Given the description of an element on the screen output the (x, y) to click on. 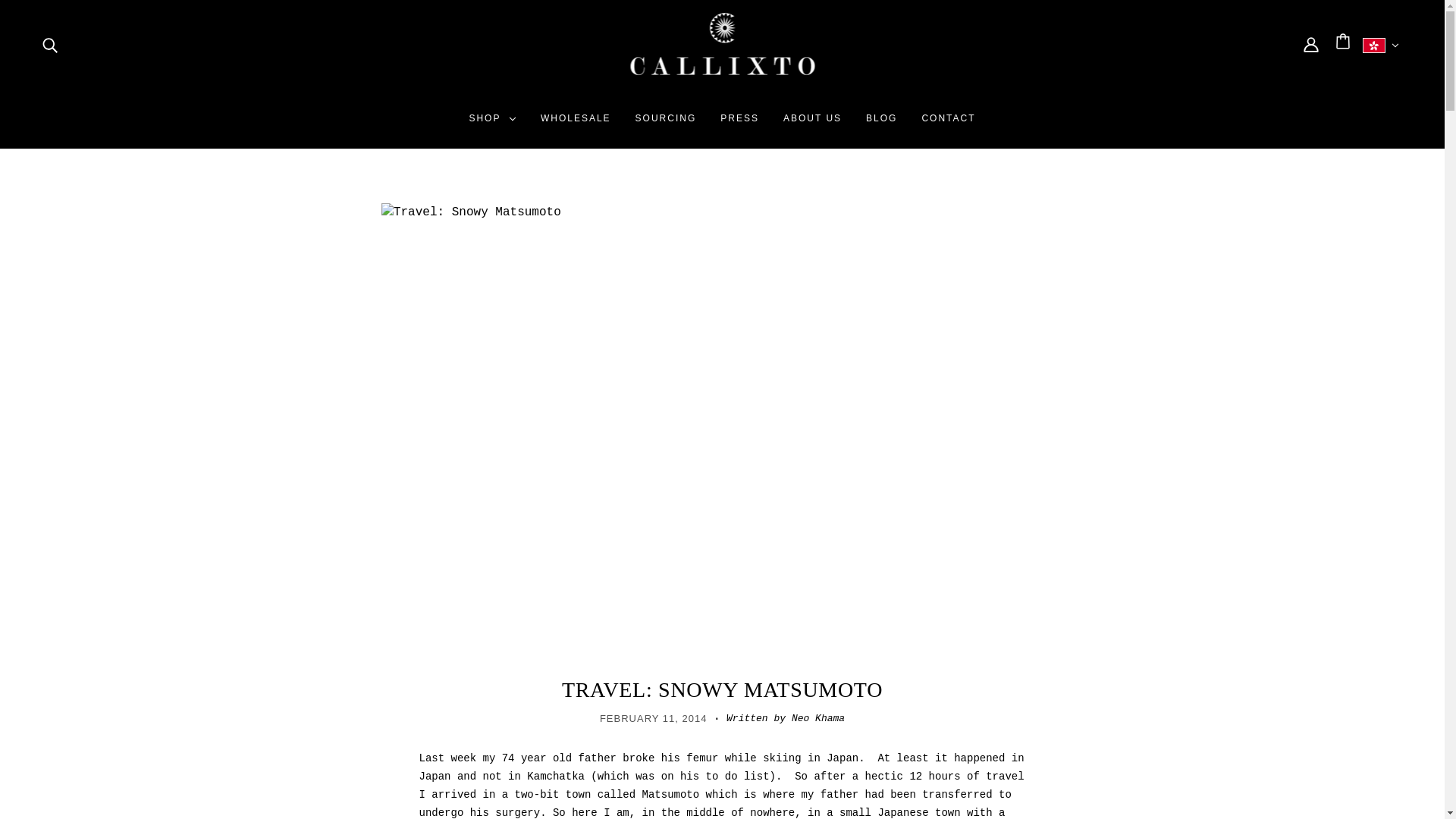
PRESS (739, 124)
WHOLESALE (575, 124)
Callixto (722, 77)
SHOP   (492, 124)
CONTACT (947, 124)
SOURCING (666, 124)
ABOUT US (812, 124)
BLOG (880, 124)
